Given the description of an element on the screen output the (x, y) to click on. 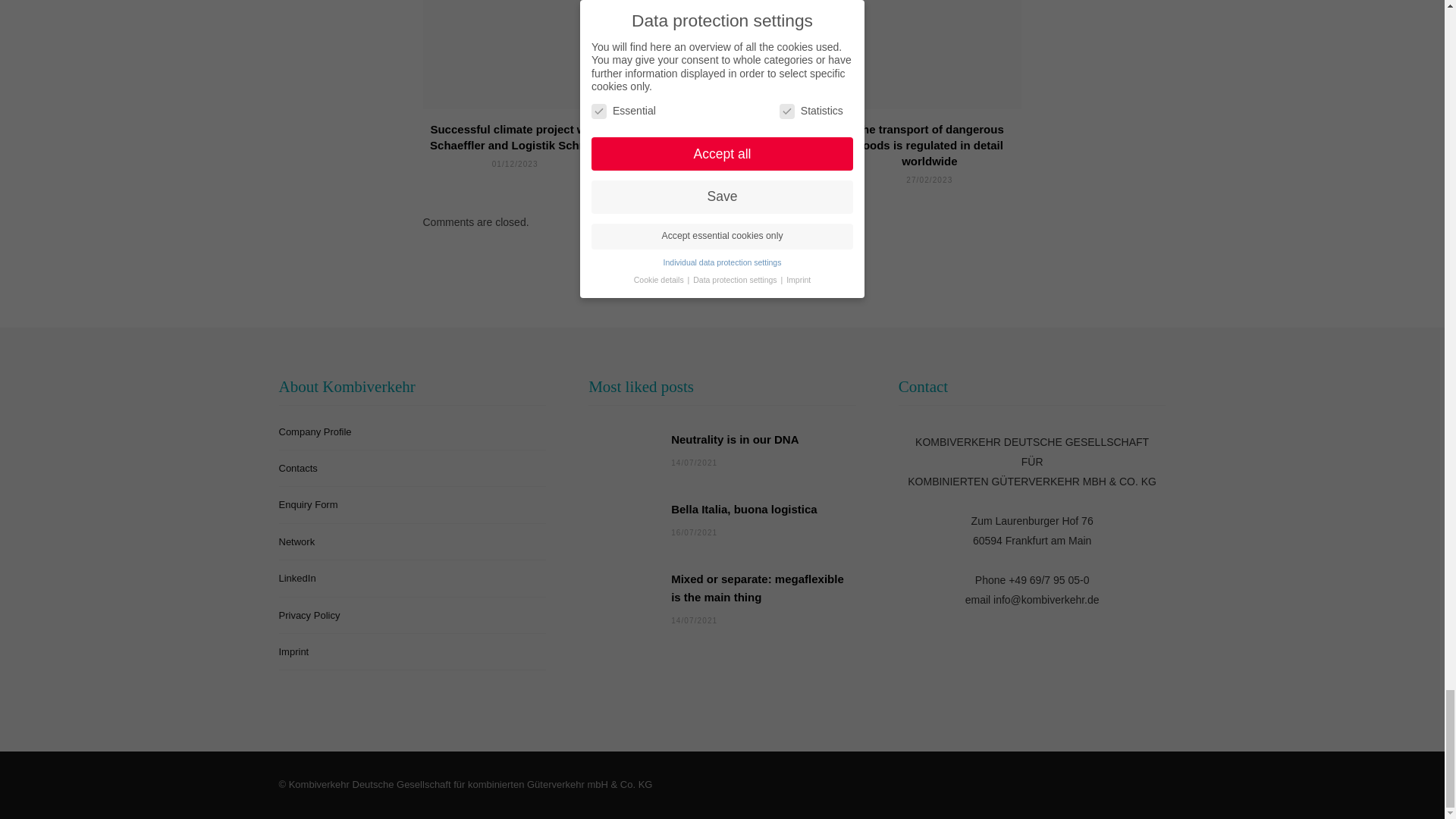
Privacy Policy (309, 614)
Network (297, 541)
Enquiry Form (308, 504)
Company Profile (315, 431)
Imprint (293, 651)
Dangerous goods must be clearly identifiable at all times (721, 54)
Dangerous goods must be clearly identifiable at all times (721, 136)
LinkedIn (297, 577)
